Given the description of an element on the screen output the (x, y) to click on. 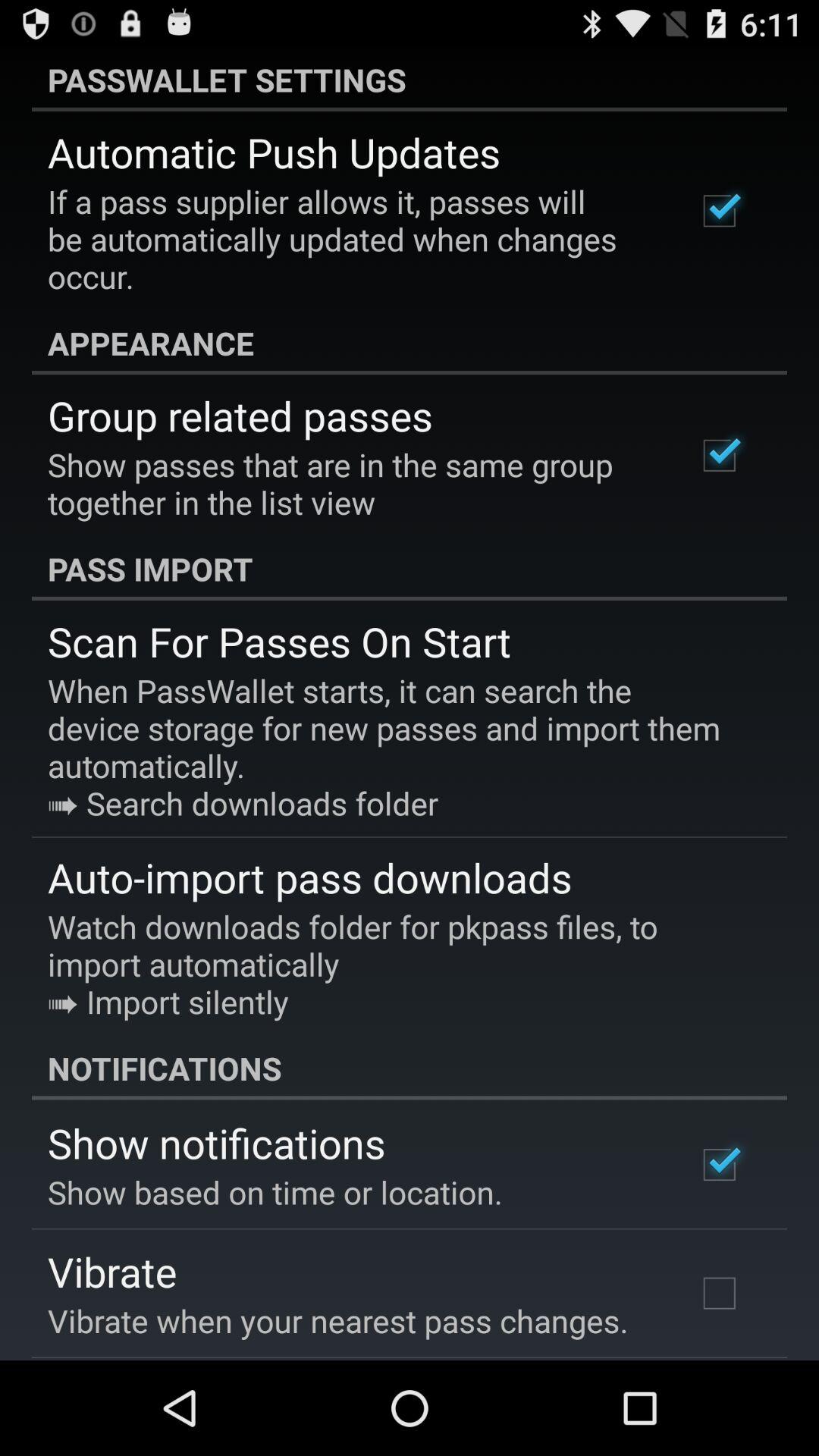
turn on show notifications icon (216, 1142)
